Given the description of an element on the screen output the (x, y) to click on. 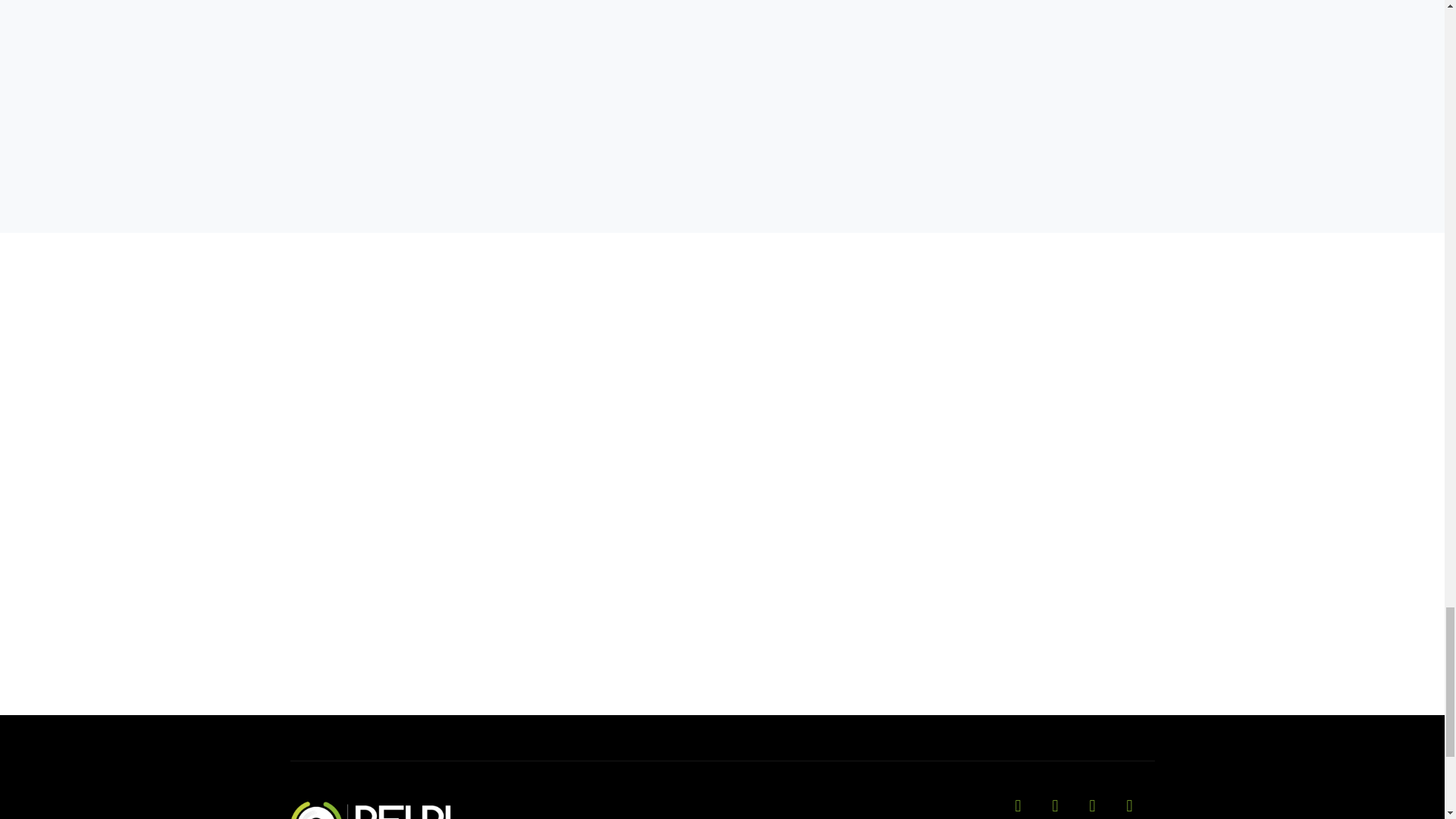
Instagram (1025, 808)
Linkedin (1137, 808)
Facebook-f (1063, 808)
Twitter (1099, 808)
